Given the description of an element on the screen output the (x, y) to click on. 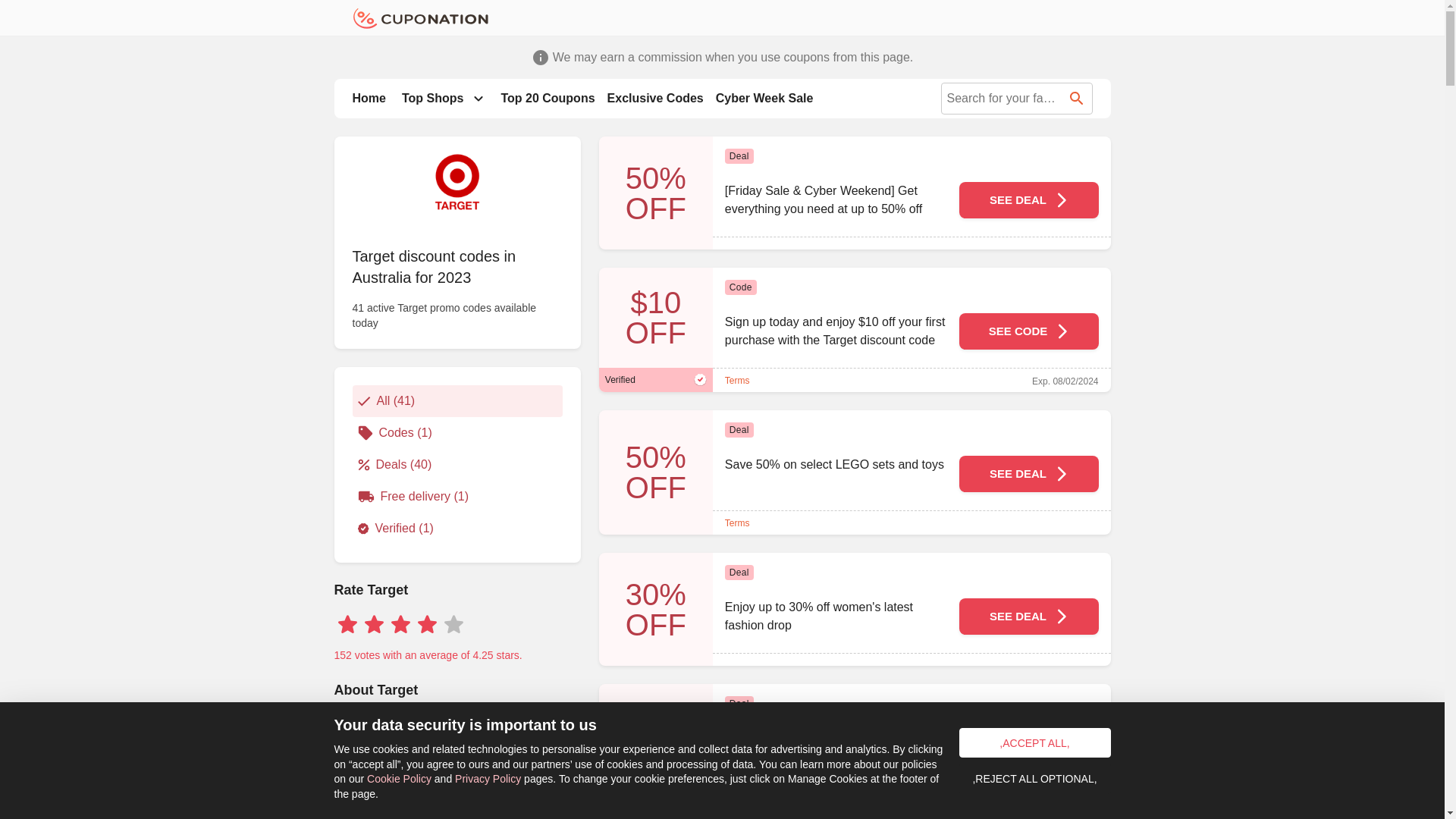
Terms Element type: text (737, 380)
Cyber Week Sale Element type: text (764, 98)
,ACCEPT ALL, Element type: text (1034, 742)
Terms Element type: text (737, 523)
Privacy Policy Element type: text (487, 778)
,REJECT ALL OPTIONAL, Element type: text (1034, 778)
Cookie Policy Element type: text (399, 778)
Top 20 Coupons Element type: text (547, 98)
Home Element type: text (368, 98)
Exclusive Codes Element type: text (655, 98)
Privacy settings Element type: hover (17, 801)
